Given the description of an element on the screen output the (x, y) to click on. 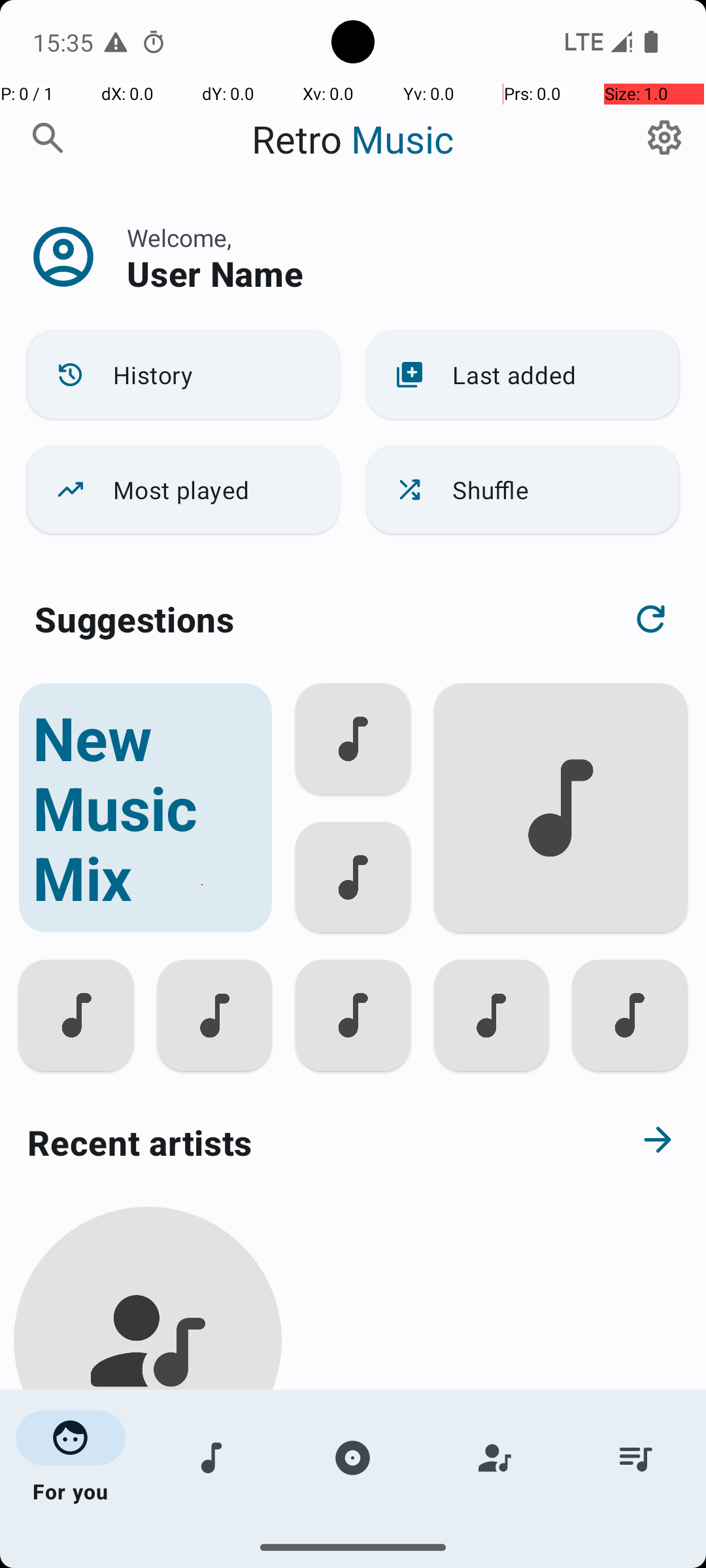
Henry Element type: android.widget.TextView (147, 1503)
